Given the description of an element on the screen output the (x, y) to click on. 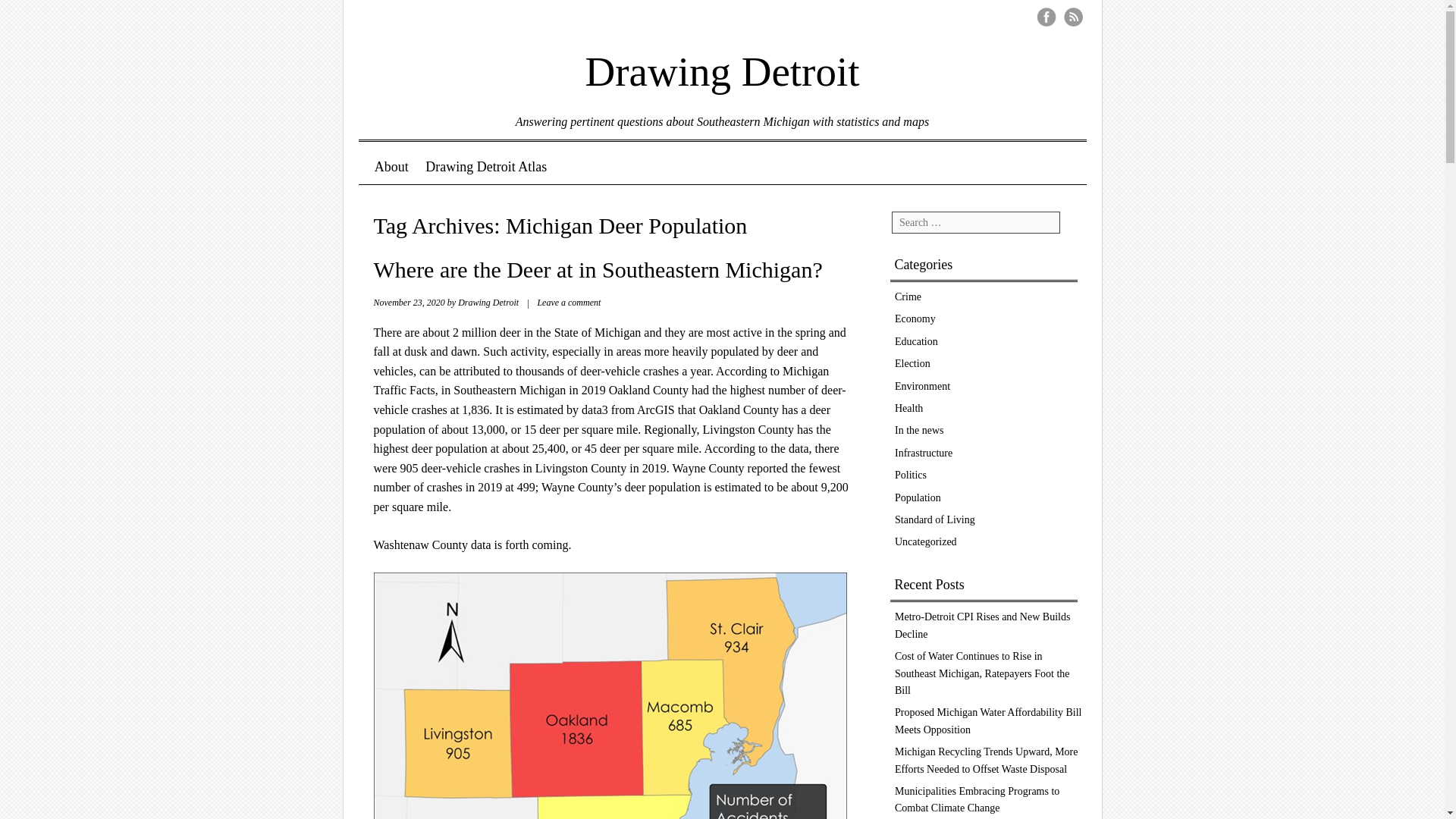
Drawing Detroit (488, 302)
In the news (919, 430)
Facebook (1046, 16)
About (390, 167)
Drawing Detroit (722, 61)
Leave a comment (568, 302)
Search (40, 21)
Drawing Detroit (722, 61)
Proposed Michigan Water Affordability Bill Meets Opposition (988, 720)
Infrastructure (923, 452)
